Given the description of an element on the screen output the (x, y) to click on. 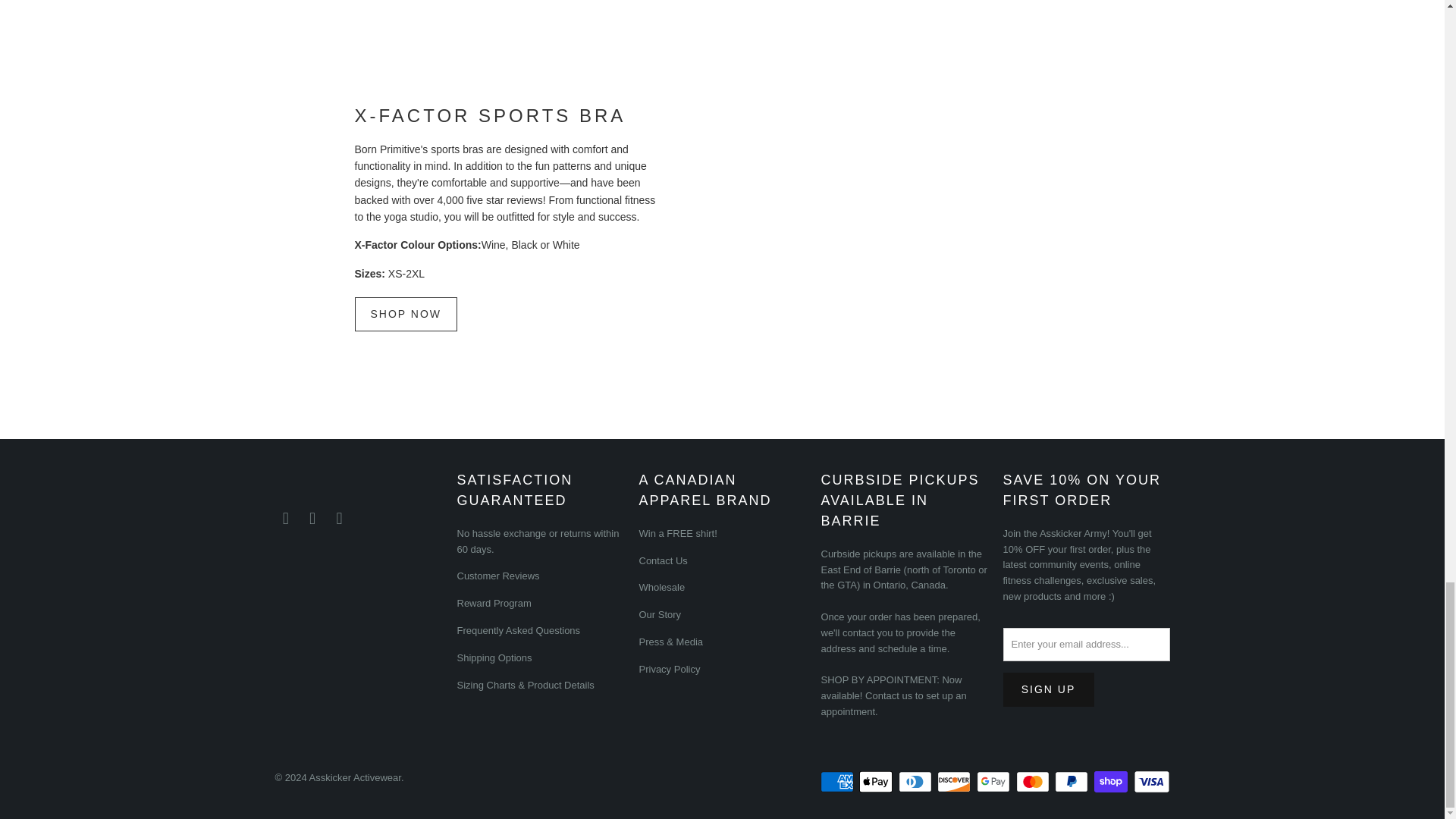
Asskicker Activewear on Instagram (312, 518)
Asskicker Activewear on Facebook (286, 518)
Contact Us (888, 695)
Sign Up (1048, 689)
Apple Pay (877, 781)
PayPal (1072, 781)
Shop Pay (1112, 781)
Visa (1150, 781)
Discover (955, 781)
Mastercard (1034, 781)
